Given the description of an element on the screen output the (x, y) to click on. 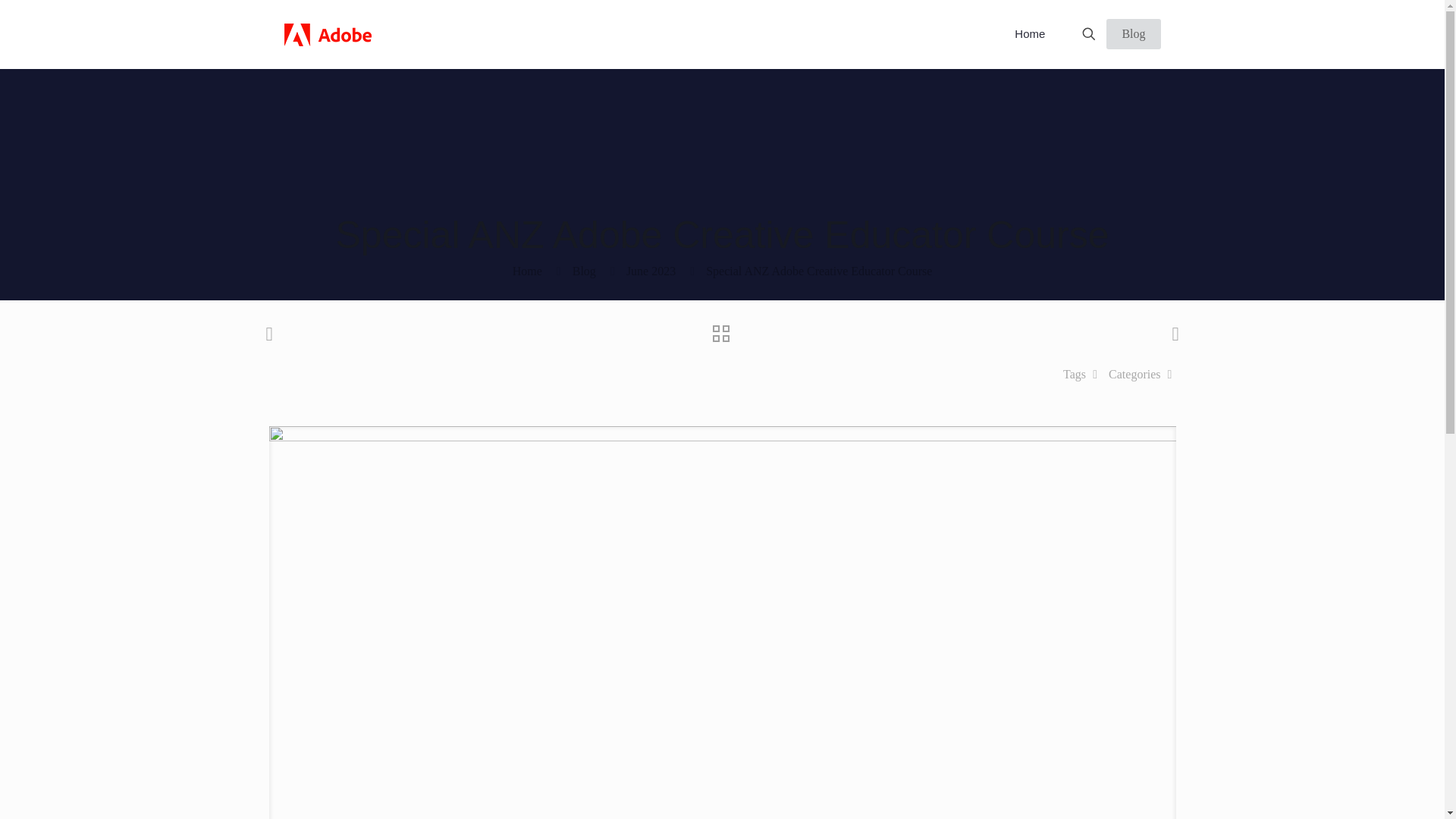
June 2023 (650, 270)
Adobe Edu Update Australasia (327, 33)
Special ANZ Adobe Creative Educator Course (818, 270)
Home (526, 270)
Blog (583, 270)
Home (1028, 33)
Blog (1133, 33)
